Given the description of an element on the screen output the (x, y) to click on. 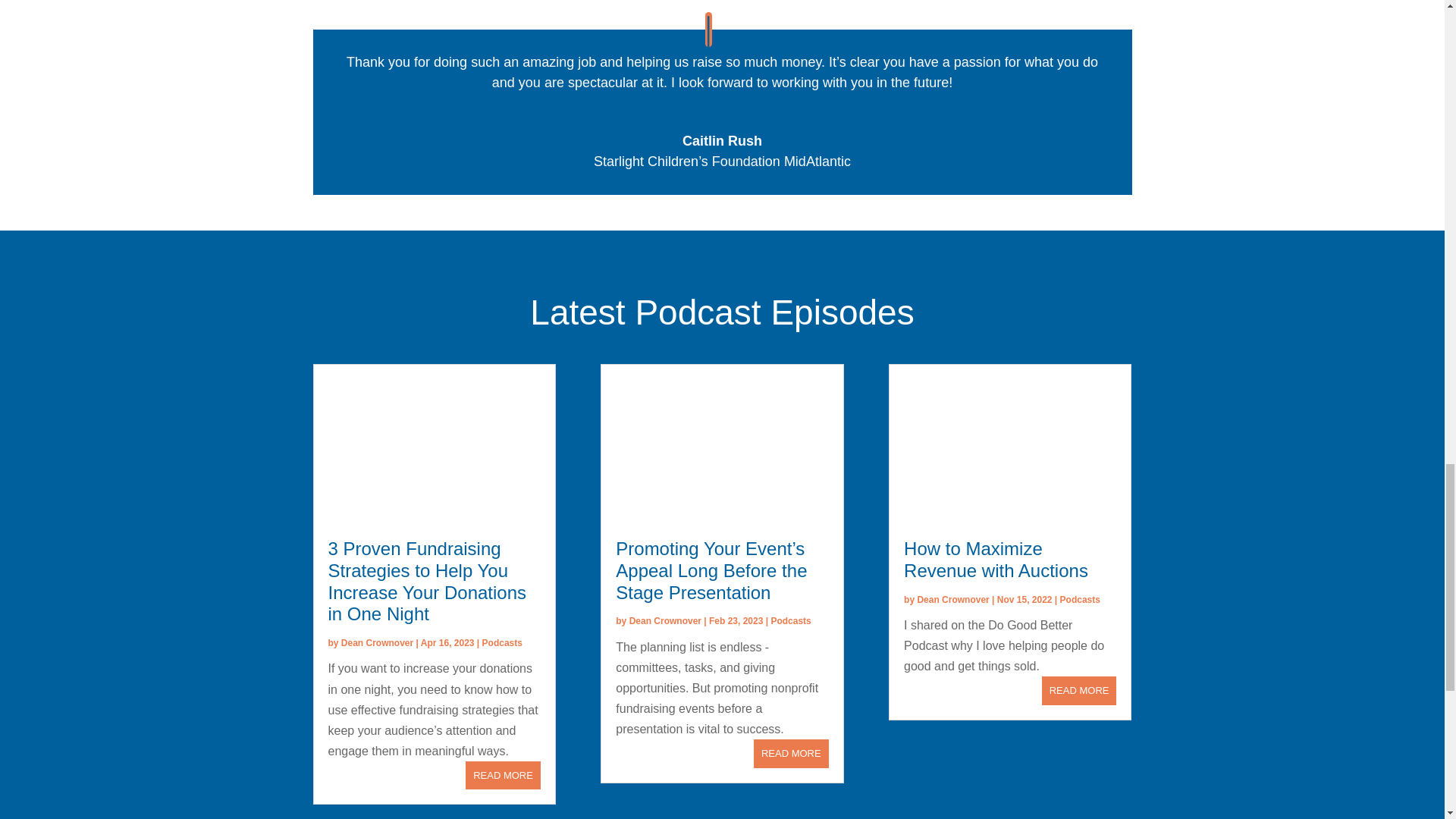
Posts by Dean Crownover (952, 599)
Posts by Dean Crownover (376, 643)
Posts by Dean Crownover (664, 620)
